Given the description of an element on the screen output the (x, y) to click on. 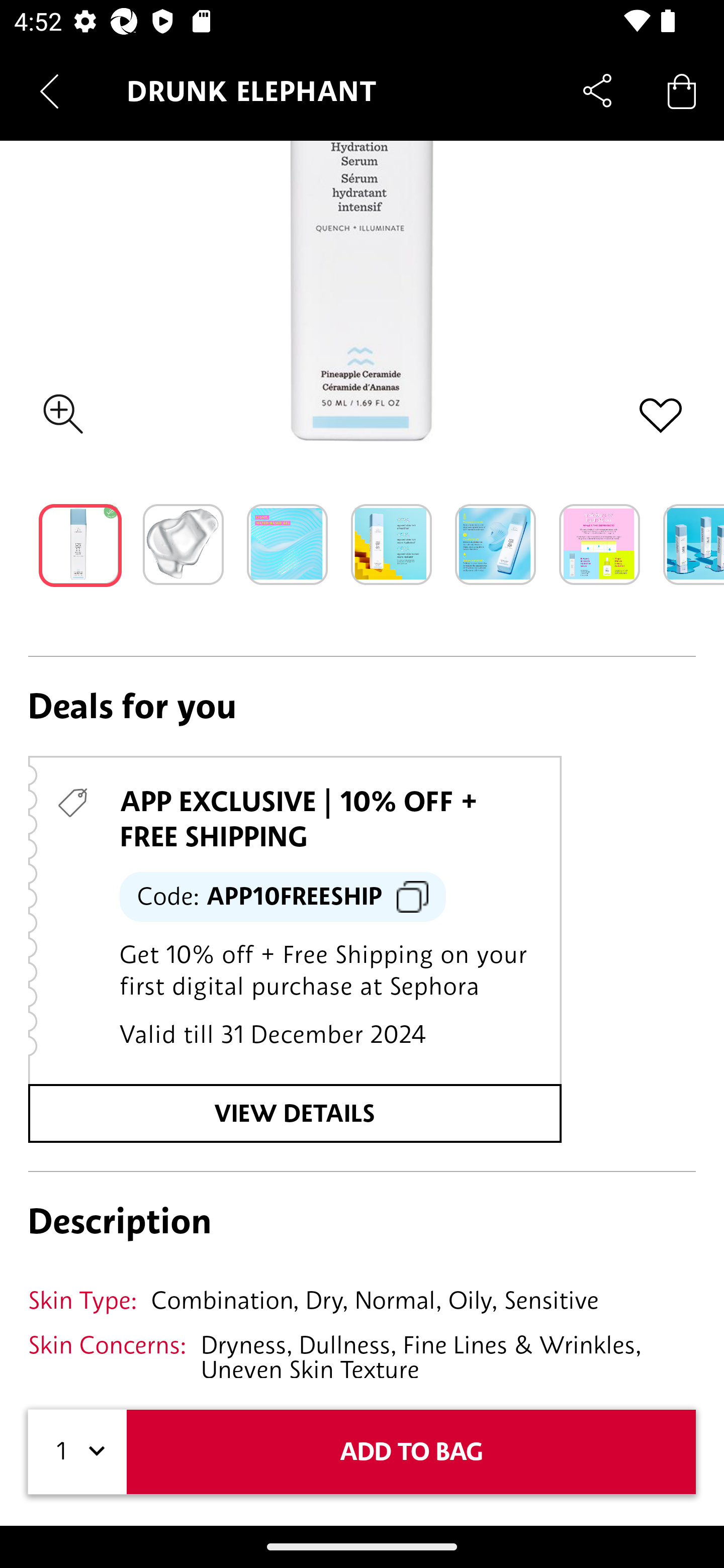
Navigate up (49, 91)
Share (597, 90)
Bag (681, 90)
VIEW DETAILS (294, 1113)
1 (77, 1451)
ADD TO BAG (410, 1451)
